Given the description of an element on the screen output the (x, y) to click on. 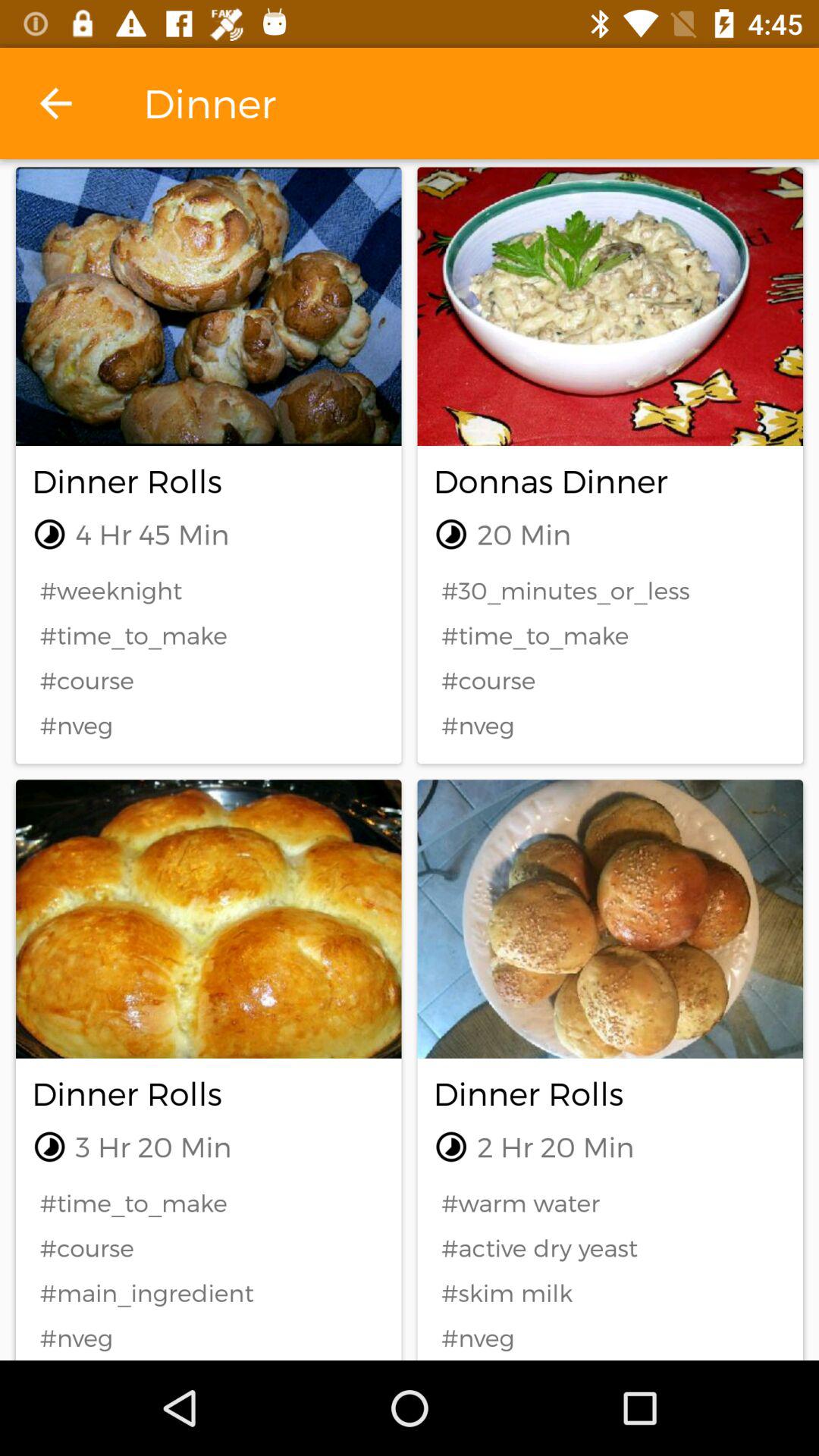
flip to the #active dry yeast icon (610, 1247)
